Given the description of an element on the screen output the (x, y) to click on. 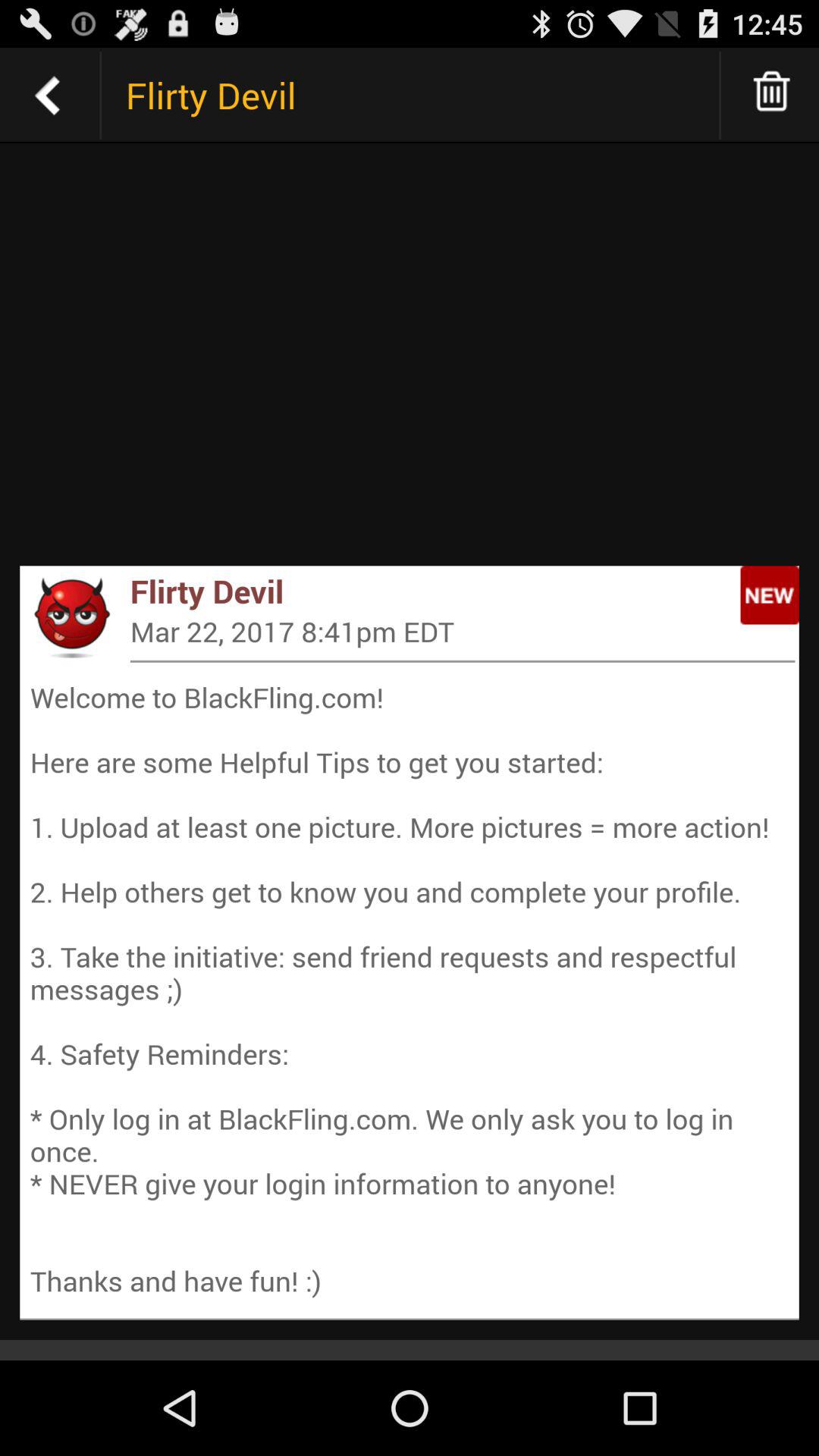
flirty devil (47, 95)
